Given the description of an element on the screen output the (x, y) to click on. 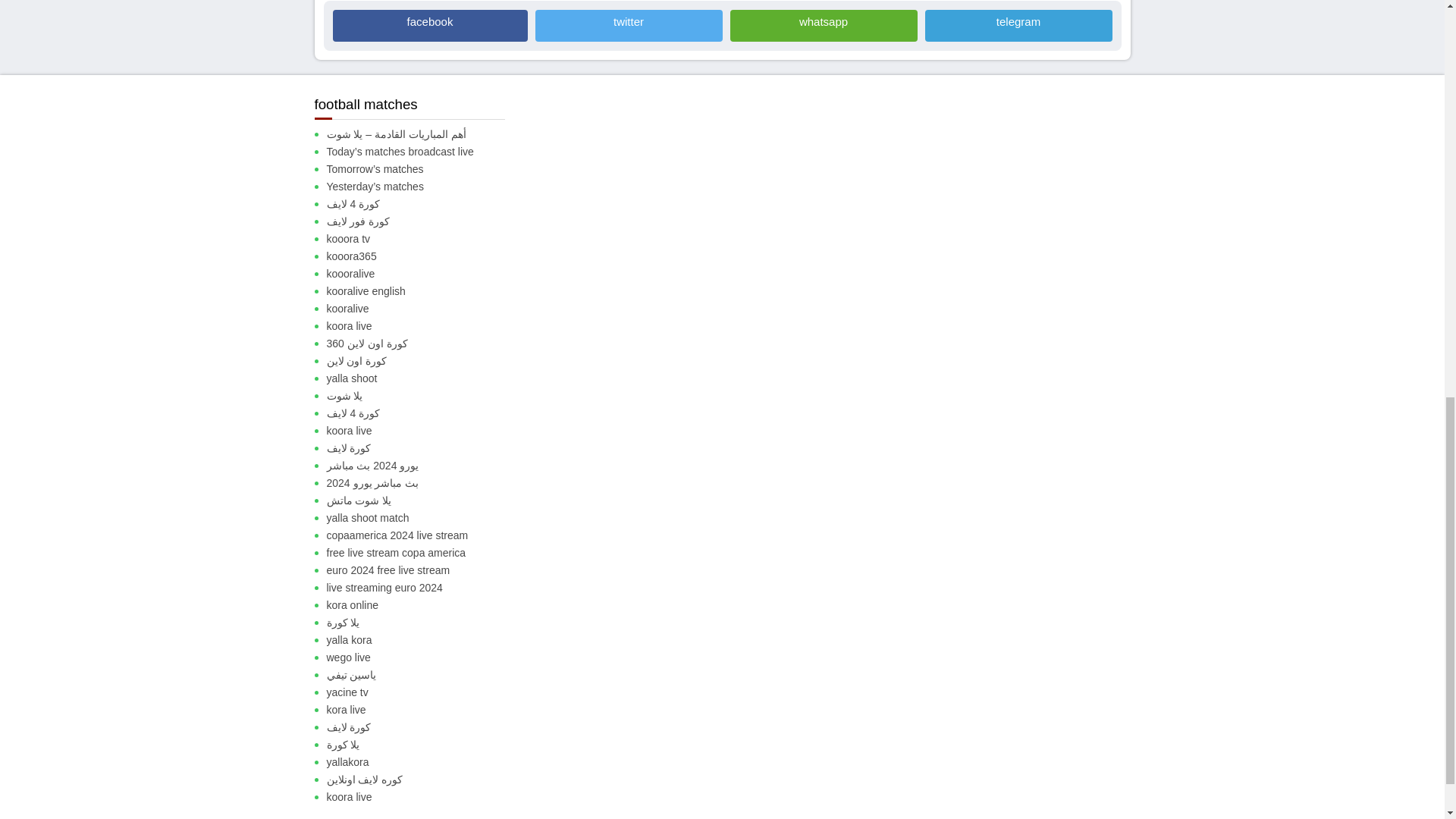
koora live (421, 326)
Share to telegram (1018, 24)
kooralive english (421, 291)
facebook (429, 24)
kooora tv (421, 238)
Share to whatsapp (823, 24)
telegram (1018, 24)
Share to twitter (628, 24)
copaamerica 2024 live stream (421, 535)
kooralive (421, 308)
